Given the description of an element on the screen output the (x, y) to click on. 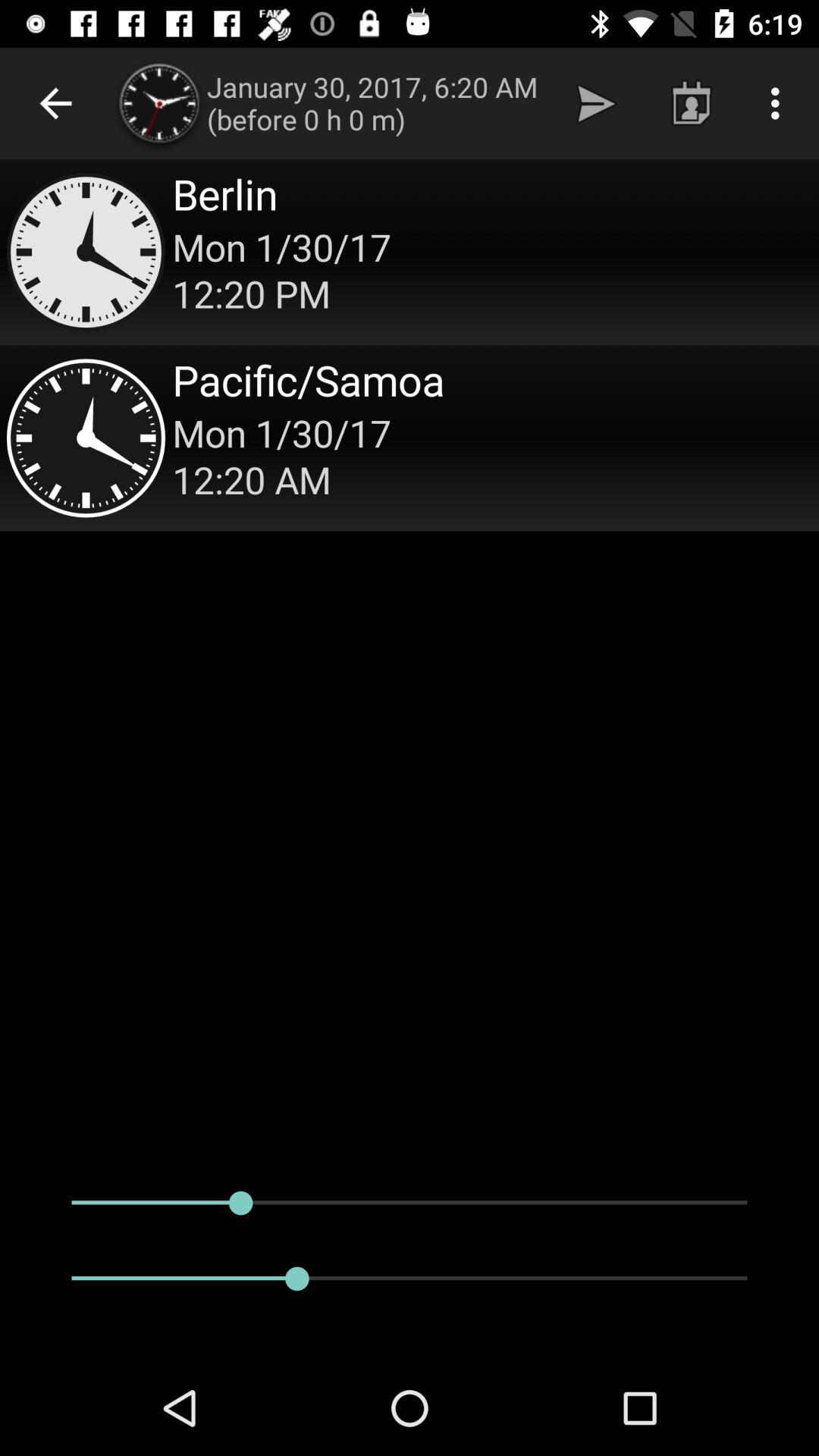
time choice option (409, 438)
